Given the description of an element on the screen output the (x, y) to click on. 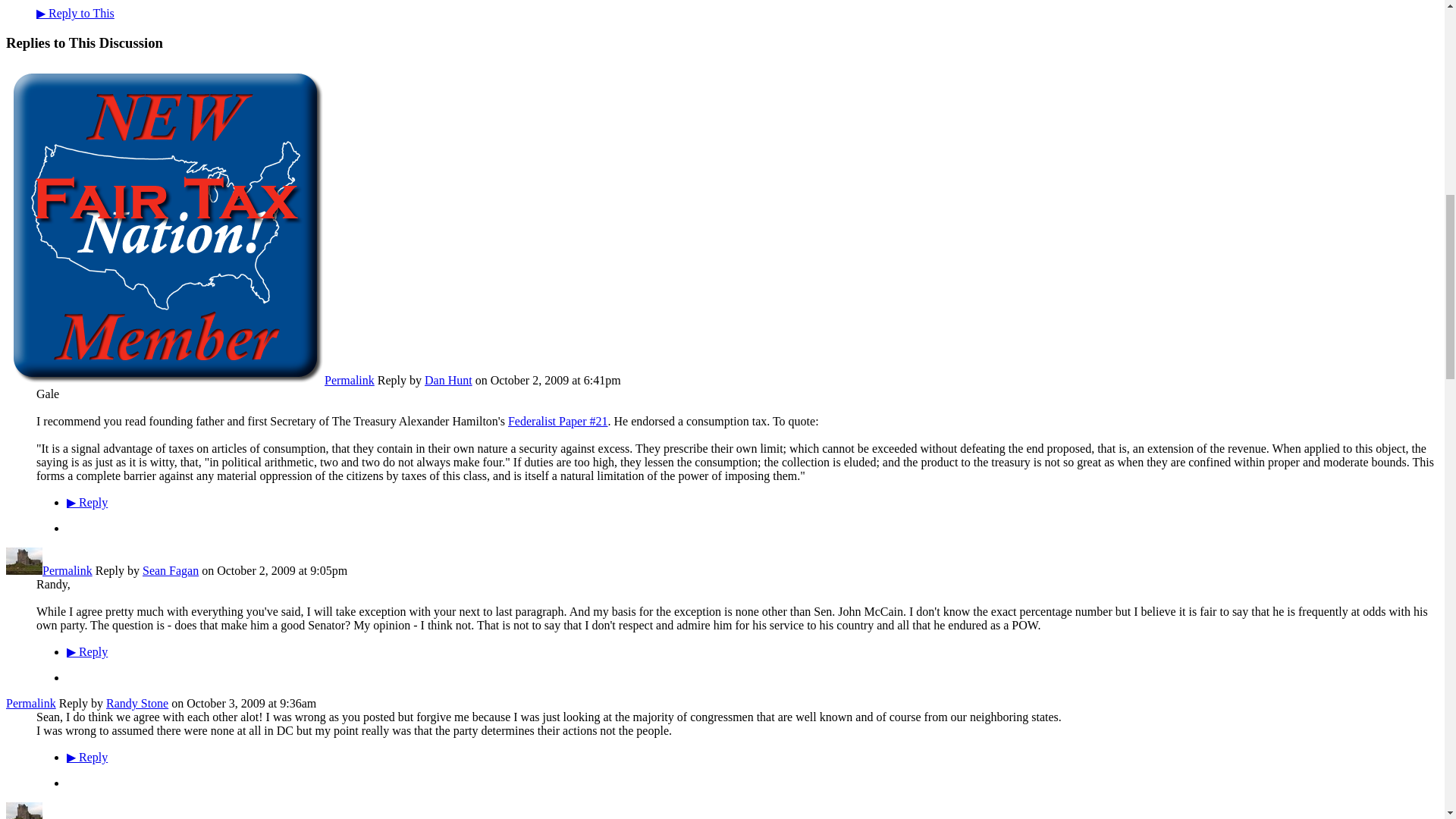
Sean Fagan (23, 570)
Permalink to this Reply (67, 570)
Dan Hunt (164, 379)
Permalink to this Reply (30, 703)
Permalink to this Reply (349, 379)
